Given the description of an element on the screen output the (x, y) to click on. 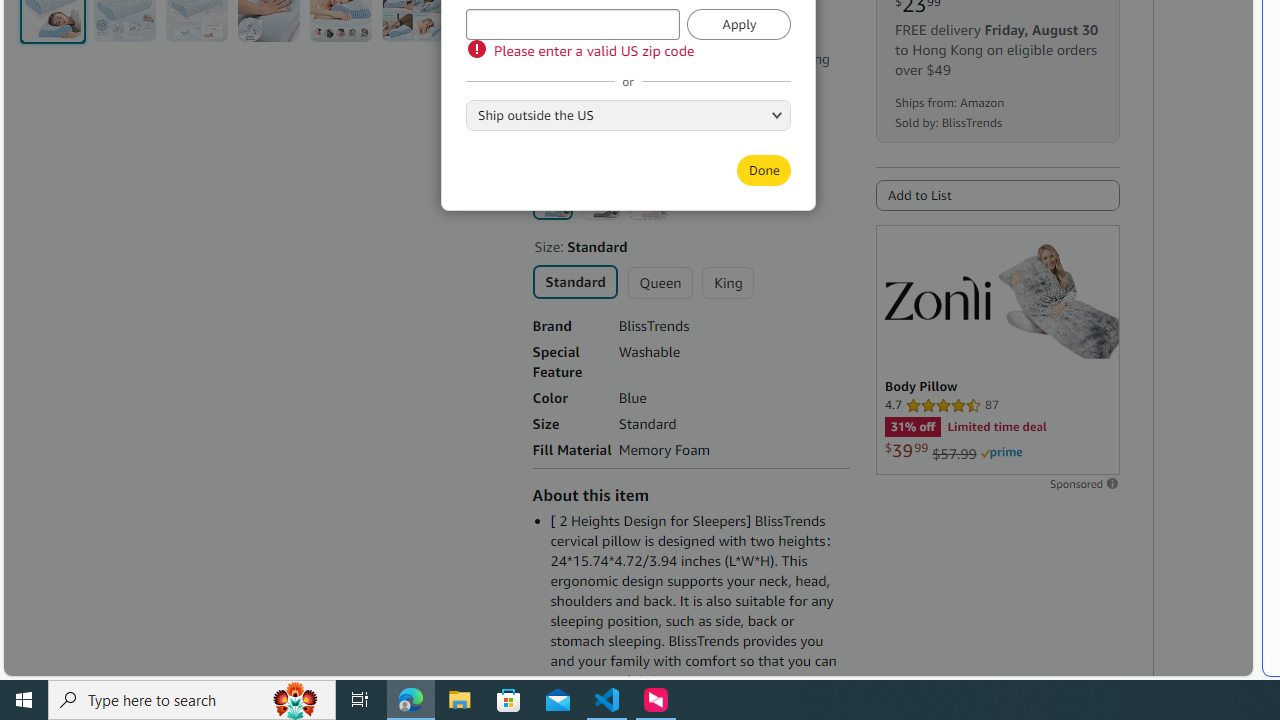
Apply 20% coupon Shop items | Terms (622, 100)
or enter a US zip code (572, 24)
Queen (660, 282)
Standard (574, 280)
Pink (647, 200)
Details  (601, 79)
Sponsored ad (997, 349)
Blue (551, 199)
